Given the description of an element on the screen output the (x, y) to click on. 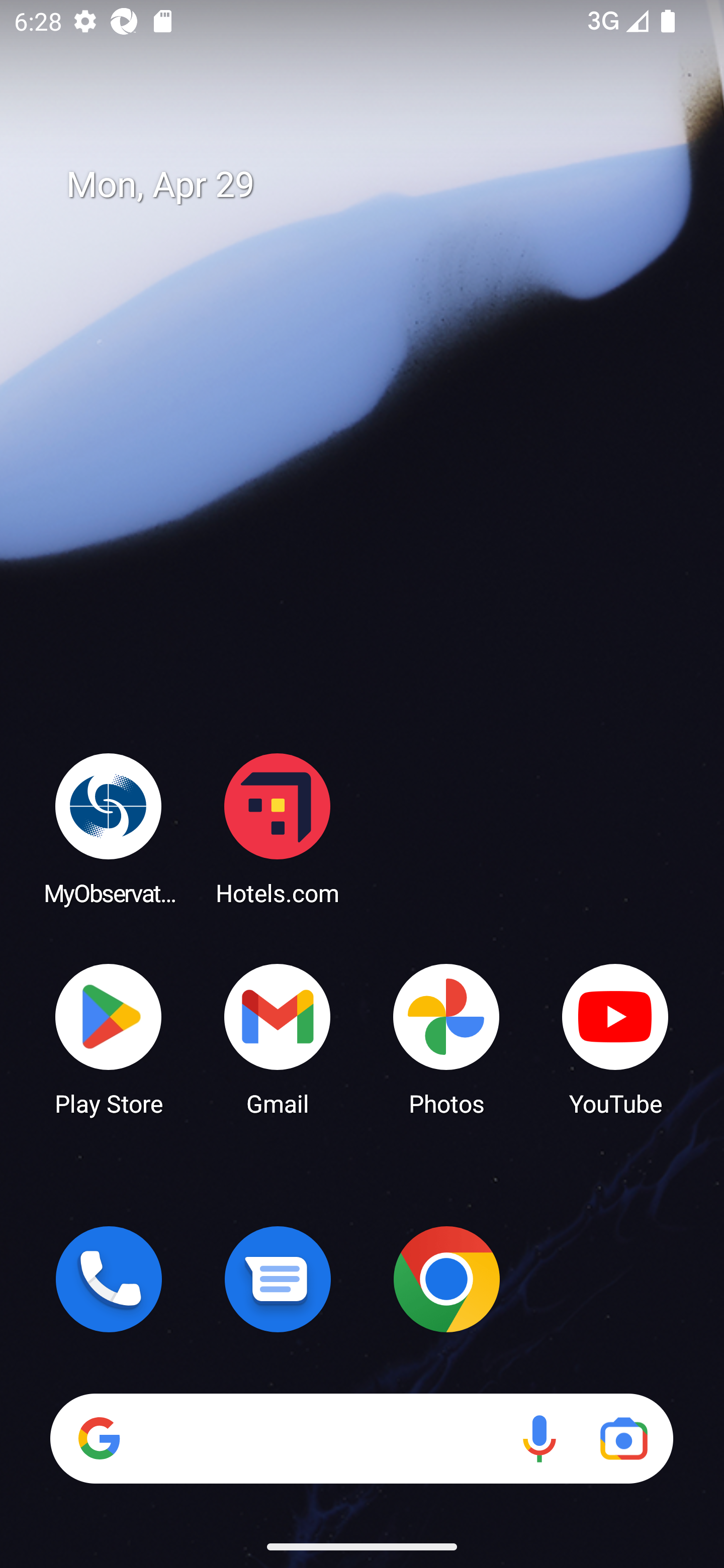
Mon, Apr 29 (375, 184)
MyObservatory (108, 828)
Hotels.com (277, 828)
Play Store (108, 1038)
Gmail (277, 1038)
Photos (445, 1038)
YouTube (615, 1038)
Phone (108, 1279)
Messages (277, 1279)
Chrome (446, 1279)
Search Voice search Google Lens (361, 1438)
Voice search (539, 1438)
Google Lens (623, 1438)
